Given the description of an element on the screen output the (x, y) to click on. 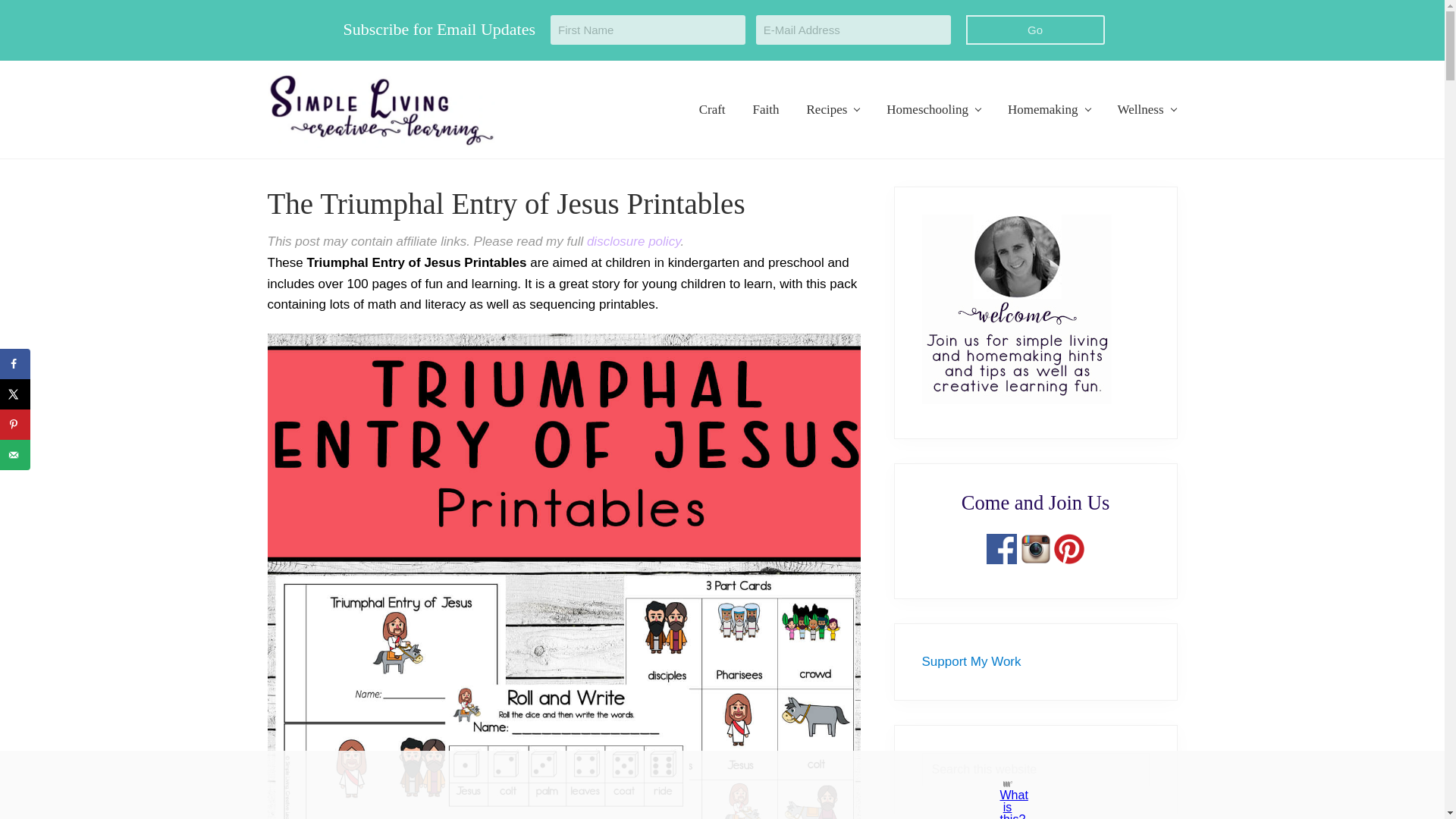
Share on X (15, 394)
Send over email (15, 454)
Go (1035, 30)
Wellness (1146, 109)
Faith (766, 109)
Recipes (833, 109)
Homemaking (1048, 109)
Homeschooling (933, 109)
Craft (712, 109)
Go (1035, 30)
disclosure policy (632, 241)
Share on Facebook (15, 363)
3rd party ad content (708, 785)
